Given the description of an element on the screen output the (x, y) to click on. 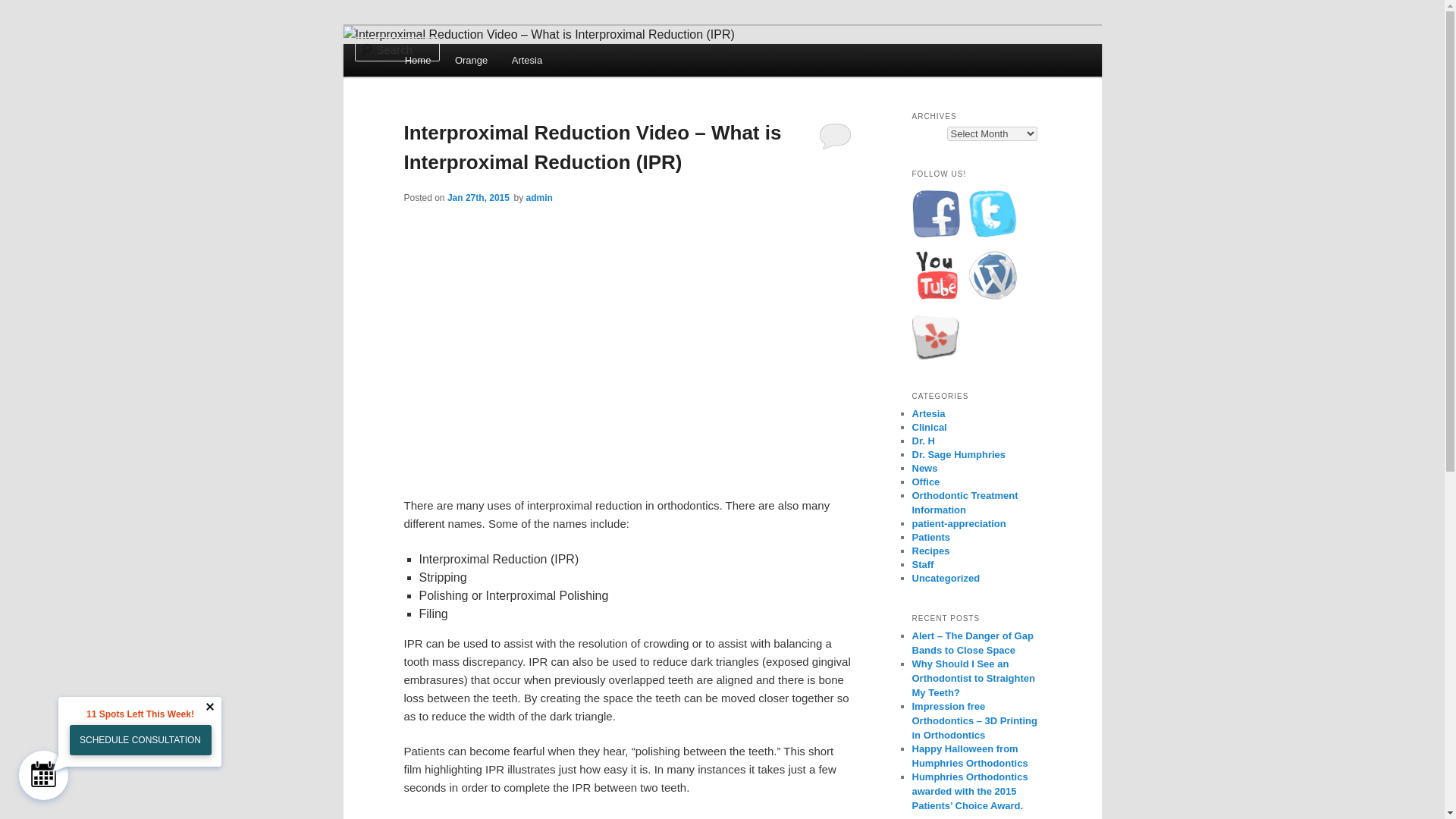
News (924, 468)
calendar (43, 775)
calendar (43, 774)
Recipes (930, 550)
Orthodontic Treatment Information (964, 502)
Uncategorized (945, 577)
Office (925, 481)
Home (417, 60)
Artesia (526, 60)
Clinical (928, 427)
